Given the description of an element on the screen output the (x, y) to click on. 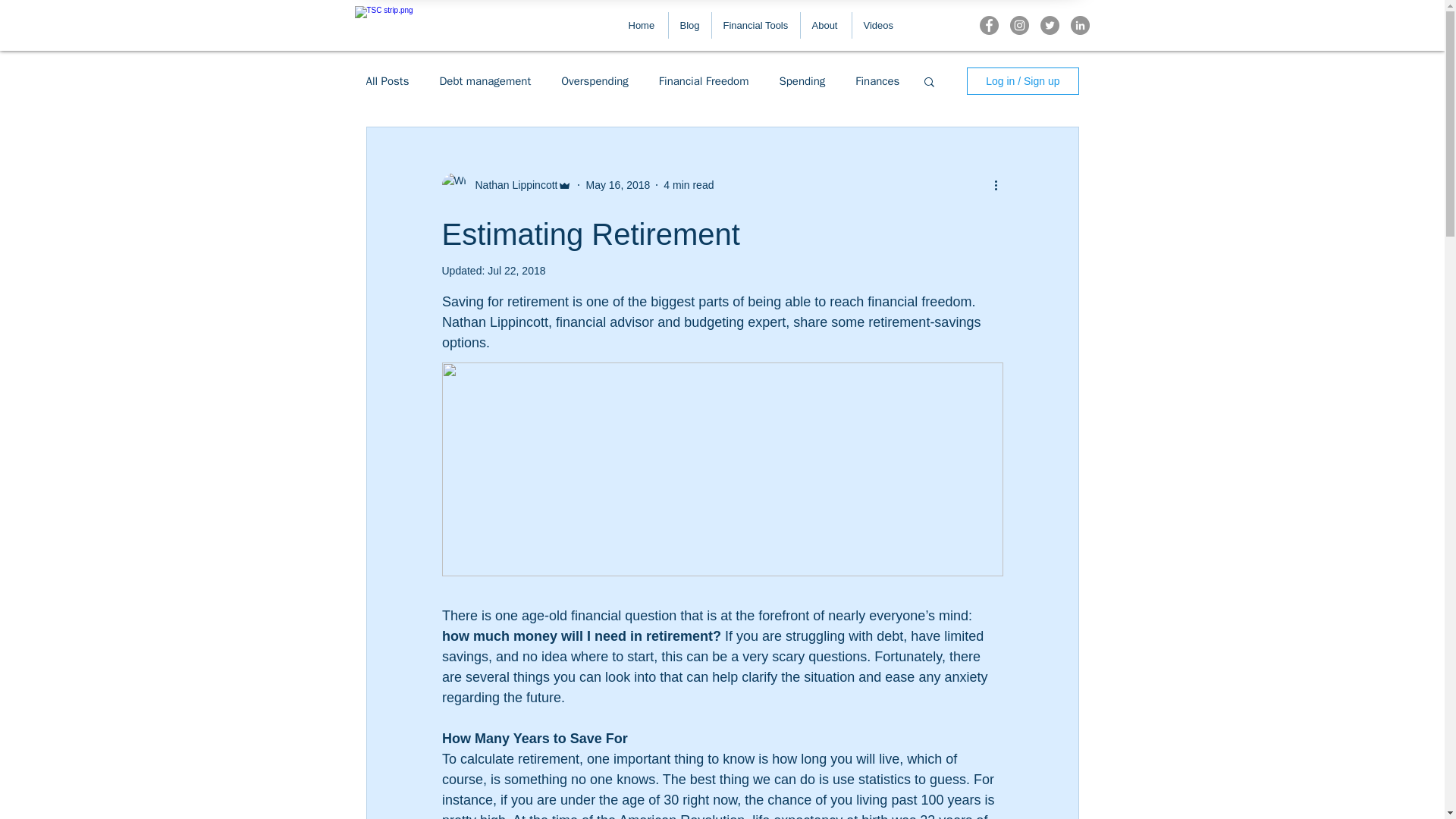
Debt management (485, 81)
Jul 22, 2018 (515, 270)
Spending (801, 81)
Finances (877, 81)
Blog (689, 25)
About (825, 25)
All Posts (387, 81)
Videos (878, 25)
Home (642, 25)
May 16, 2018 (617, 184)
Financial Tools (755, 25)
Financial Freedom (704, 81)
Nathan Lippincott (511, 185)
Overspending (594, 81)
4 min read (688, 184)
